Given the description of an element on the screen output the (x, y) to click on. 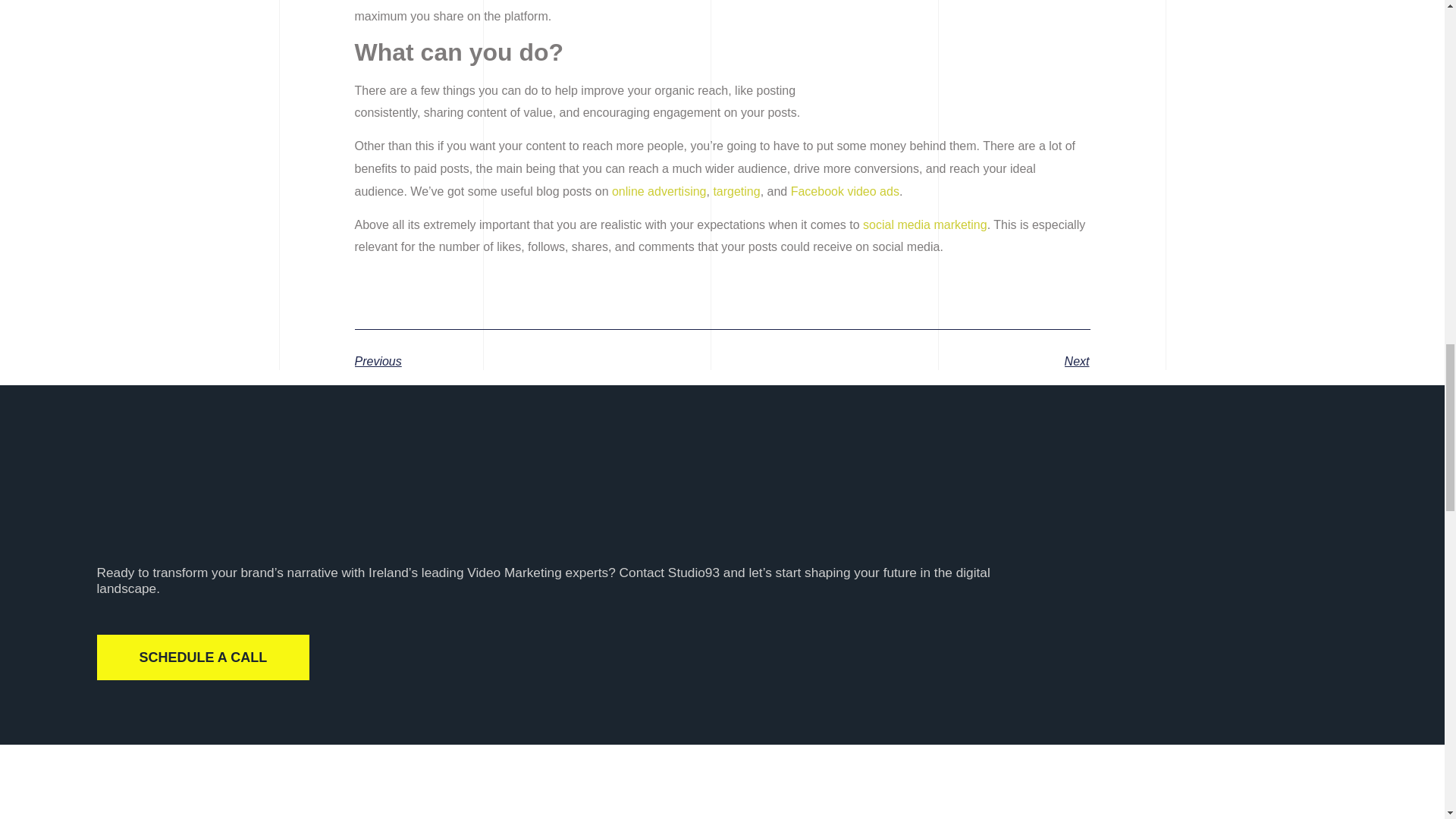
online advertising (658, 191)
social media marketing (925, 224)
Next (905, 361)
Previous (538, 361)
Facebook video ads (844, 191)
targeting (736, 191)
SCHEDULE A CALL (203, 657)
